Given the description of an element on the screen output the (x, y) to click on. 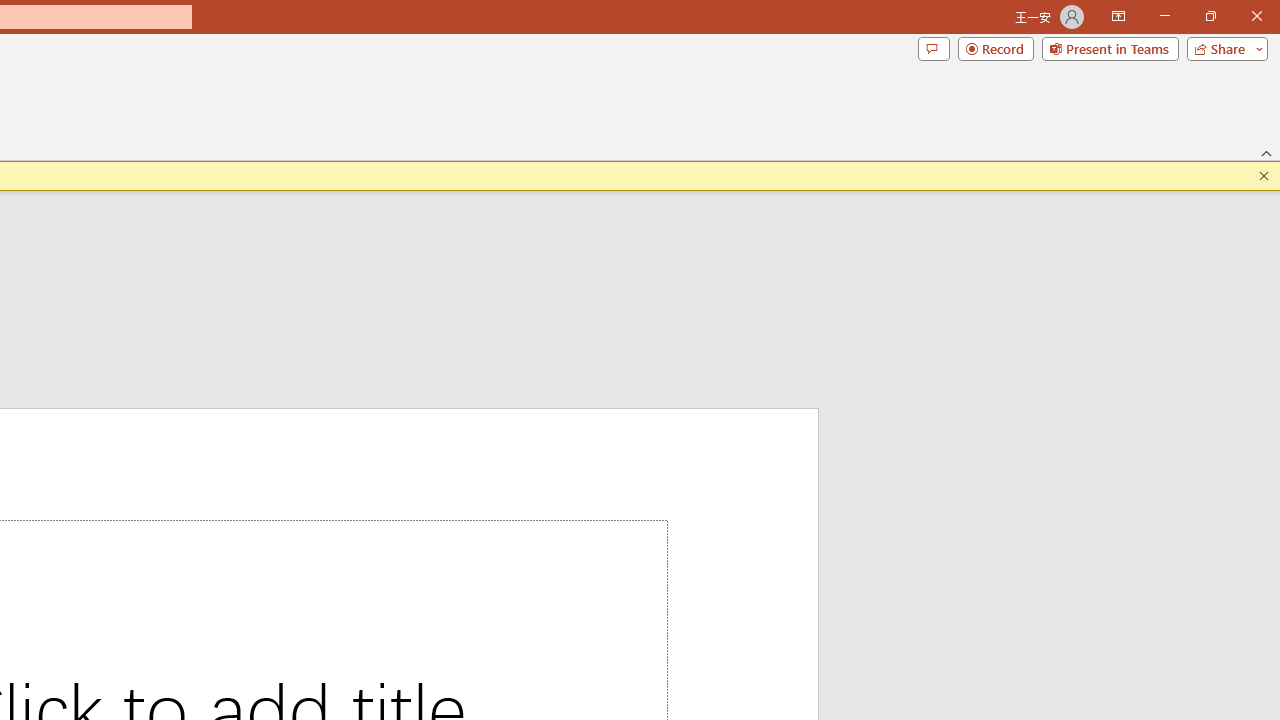
Close this message (1263, 176)
